Given the description of an element on the screen output the (x, y) to click on. 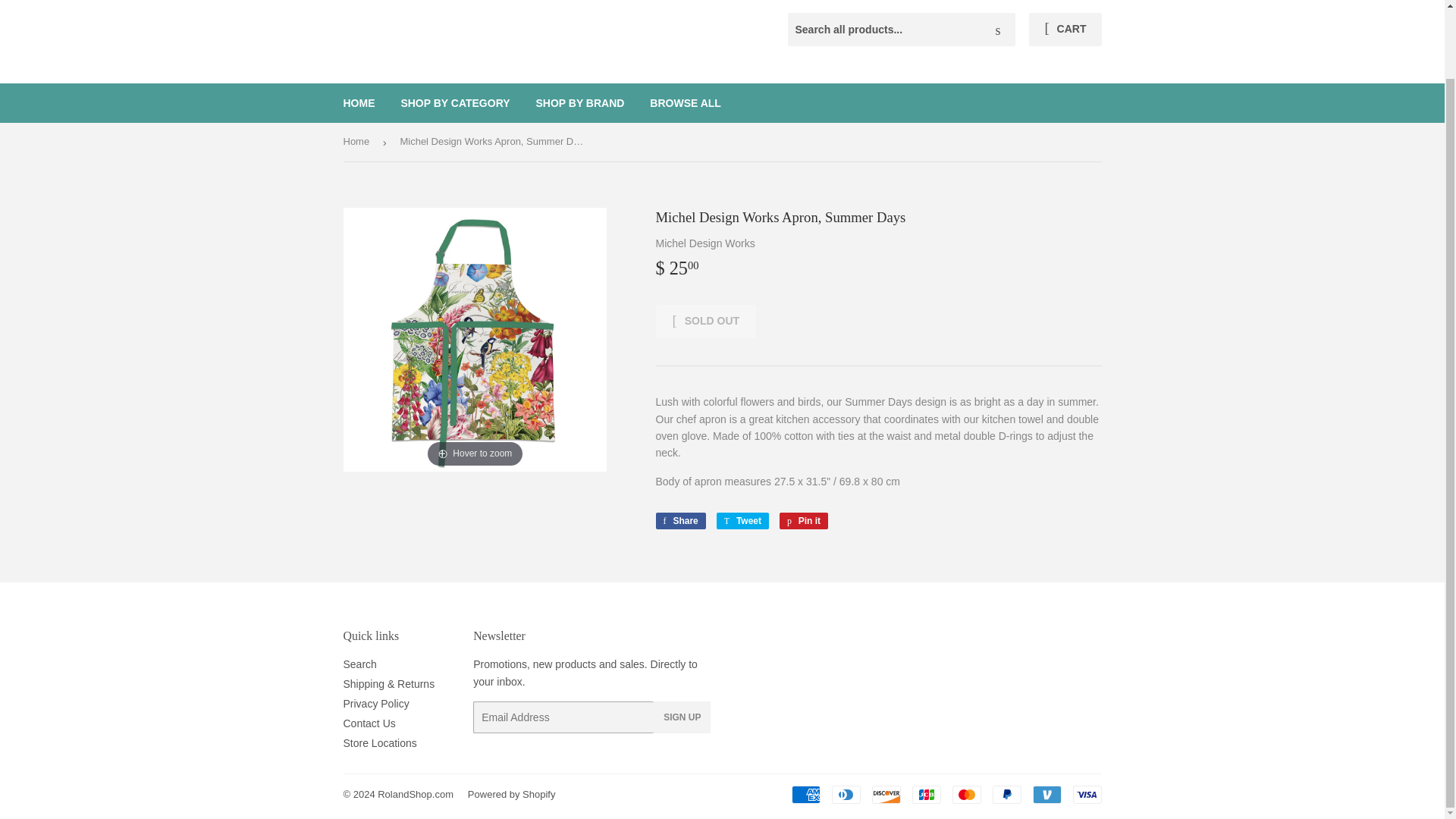
Search (997, 29)
SOLD OUT (705, 321)
Search (358, 664)
BROWSE ALL (685, 102)
SHOP BY CATEGORY (454, 102)
Share on Facebook (679, 520)
Tweet on Twitter (742, 520)
HOME (359, 102)
Mastercard (966, 794)
PayPal (1005, 794)
SIGN UP (681, 717)
Store Locations (379, 743)
American Express (742, 520)
